Given the description of an element on the screen output the (x, y) to click on. 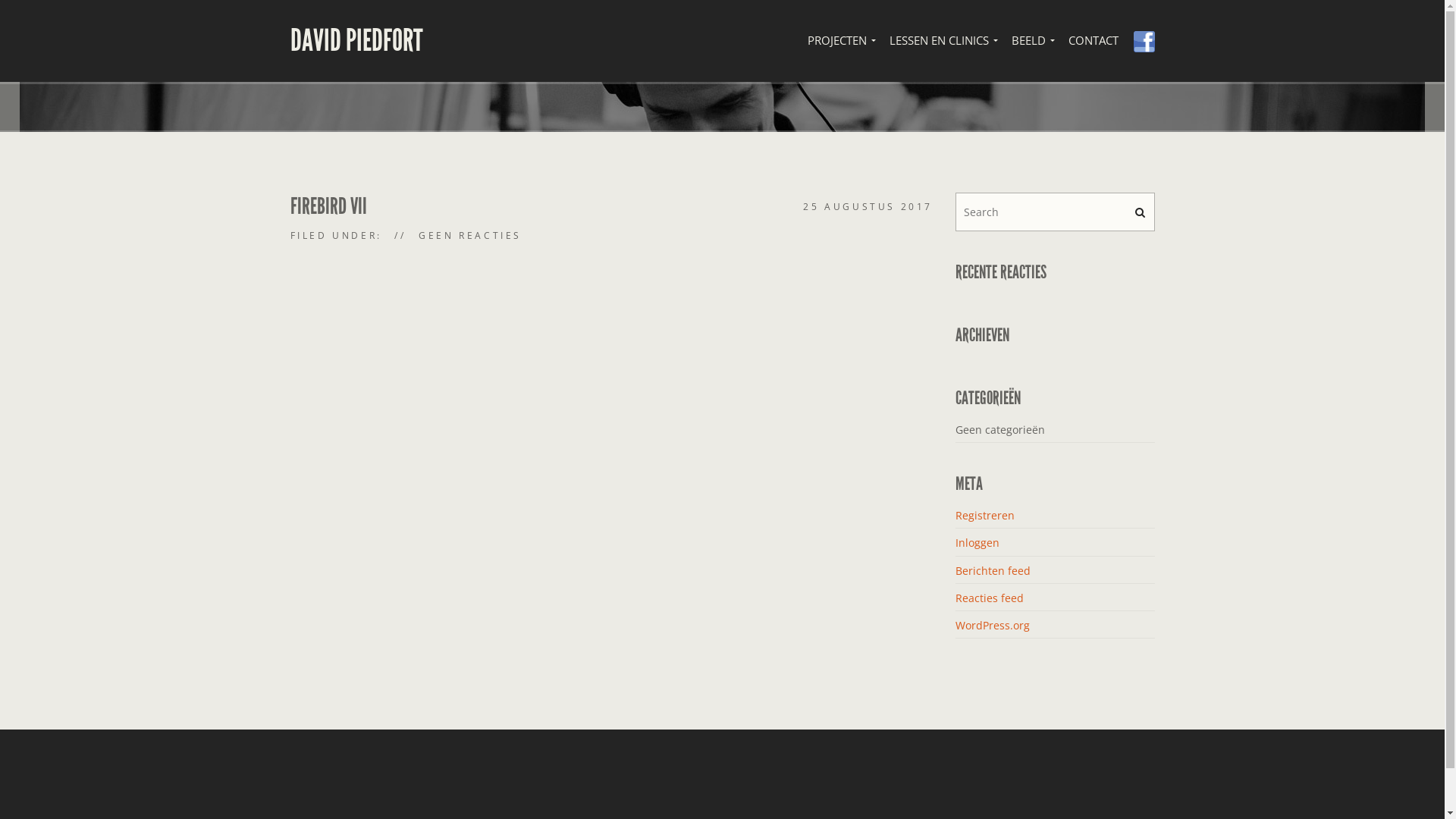
Inloggen Element type: text (977, 542)
PROJECTEN Element type: text (840, 40)
Reacties feed Element type: text (989, 597)
DAVID PIEDFORT Element type: text (355, 40)
BEELD Element type: text (1032, 40)
CONTACT Element type: text (1092, 40)
WordPress.org Element type: text (992, 625)
Registreren Element type: text (984, 515)
Berichten feed Element type: text (992, 570)
LESSEN EN CLINICS Element type: text (942, 40)
